Given the description of an element on the screen output the (x, y) to click on. 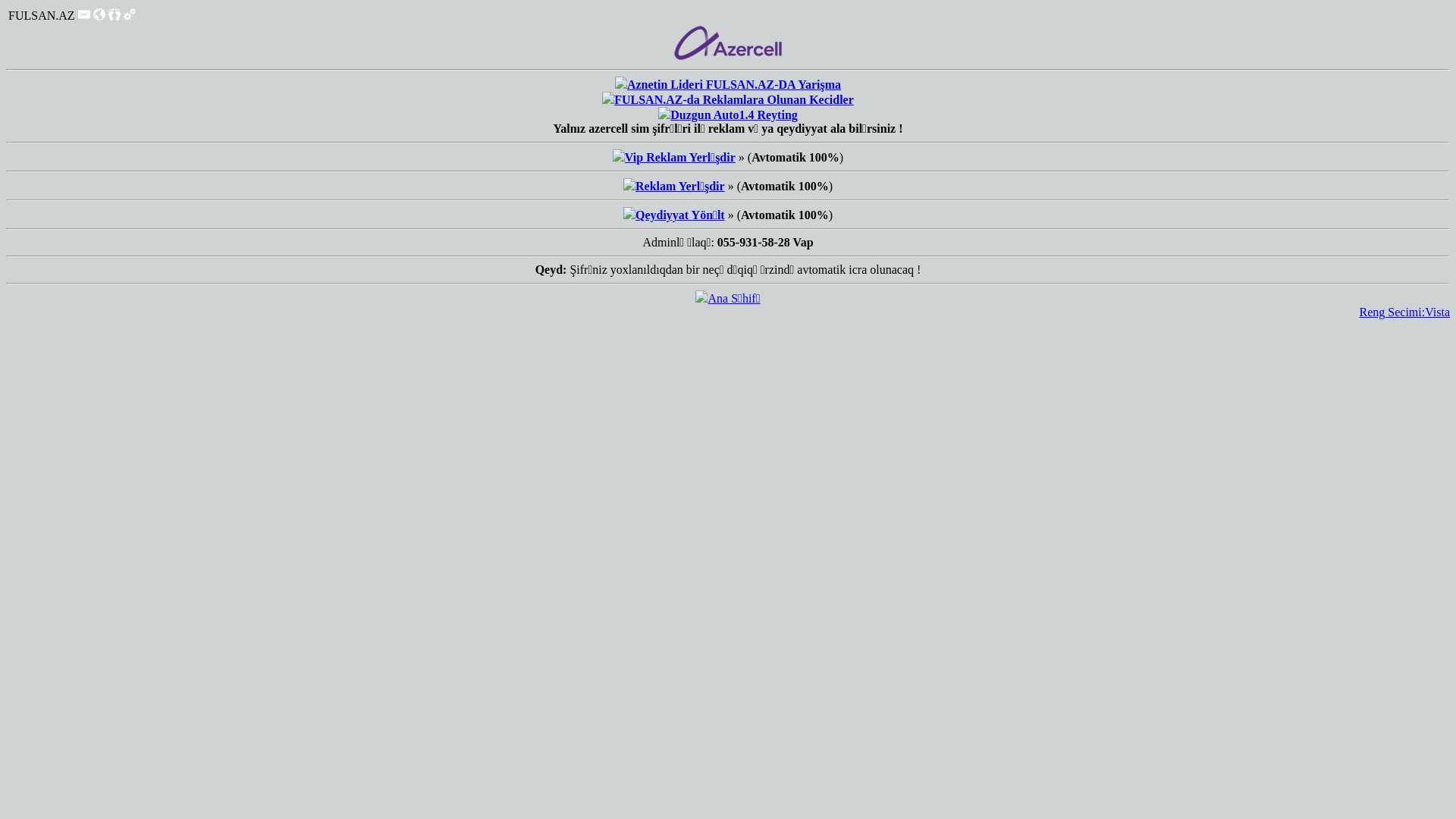
FULSAN.AZ-da Reklamlara Olunan Kecidler Element type: text (733, 99)
Qonaqlar Element type: hover (114, 14)
Mesajlar Element type: hover (84, 15)
Mesajlar Element type: hover (84, 14)
Qonaqlar Element type: hover (114, 15)
Reng Secimi:Vista Element type: text (1404, 311)
Duzgun Auto1.4 Reyting Element type: text (733, 114)
